Given the description of an element on the screen output the (x, y) to click on. 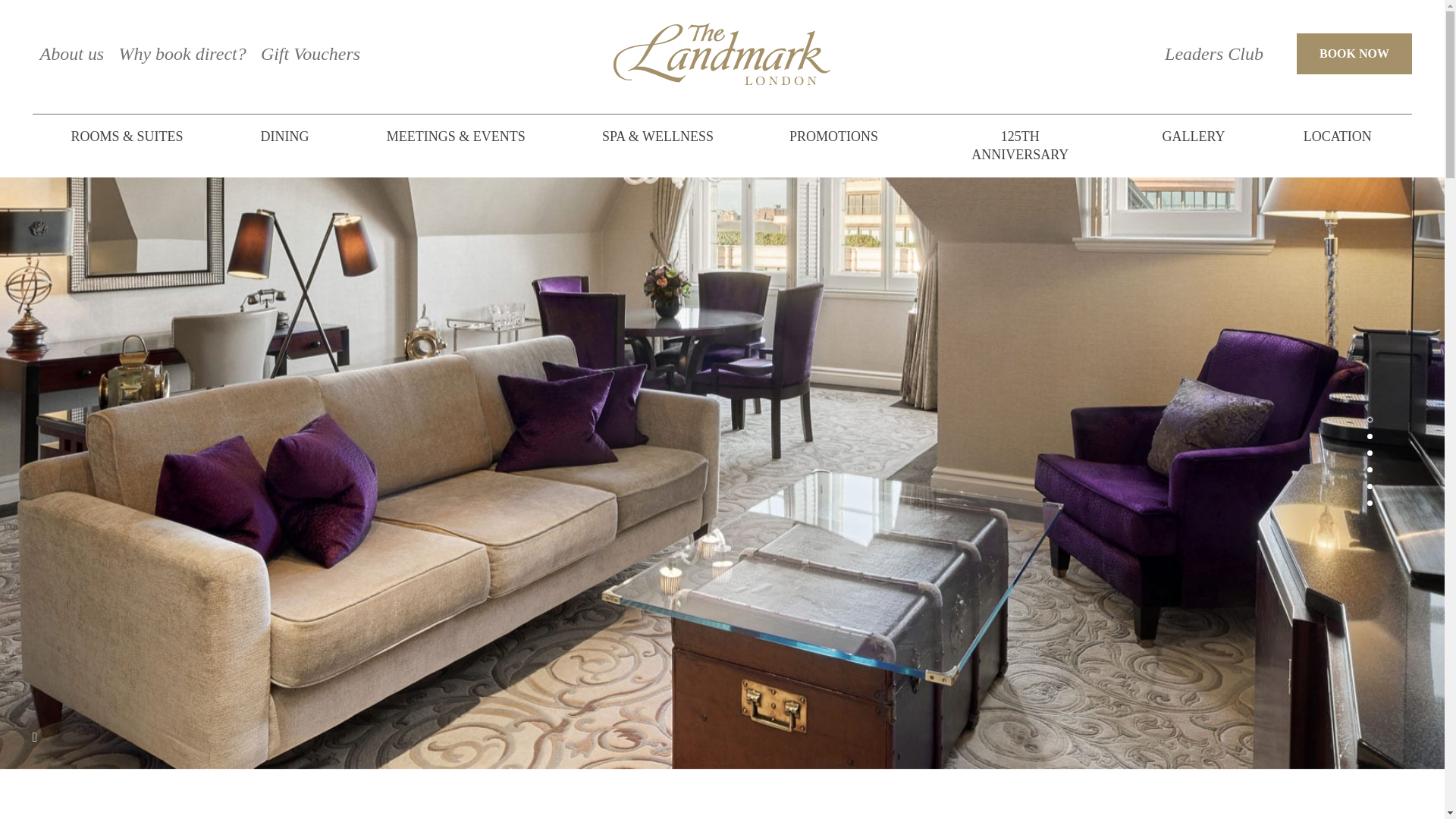
Leaders Club (1213, 54)
Location (1337, 135)
PROMOTIONS (833, 135)
Offers (833, 135)
Gift Vouchers (309, 53)
LOCATION (1337, 135)
DINING (284, 135)
Dining (284, 135)
BOOK NOW (1354, 53)
125TH ANNIVERSARY (1019, 145)
Why book direct? (182, 53)
About us (72, 53)
GALLERY (1193, 135)
